Given the description of an element on the screen output the (x, y) to click on. 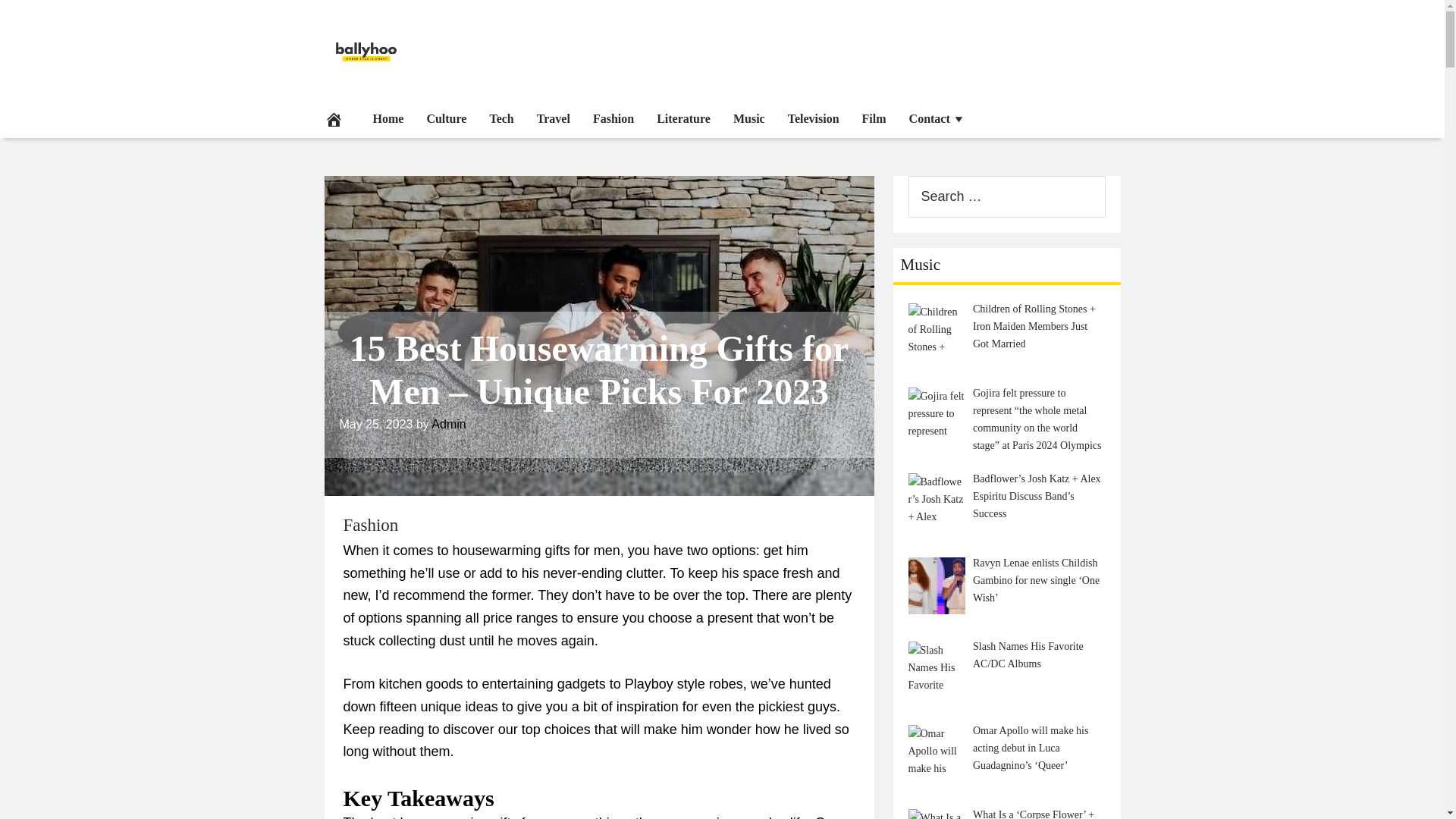
Tech (500, 118)
Fashion (369, 524)
Music (749, 118)
Film (874, 118)
Culture (445, 118)
Admin (447, 423)
Home (387, 118)
Literature (683, 118)
Contact (937, 118)
Travel (552, 118)
Fashion (612, 118)
Television (813, 118)
